Given the description of an element on the screen output the (x, y) to click on. 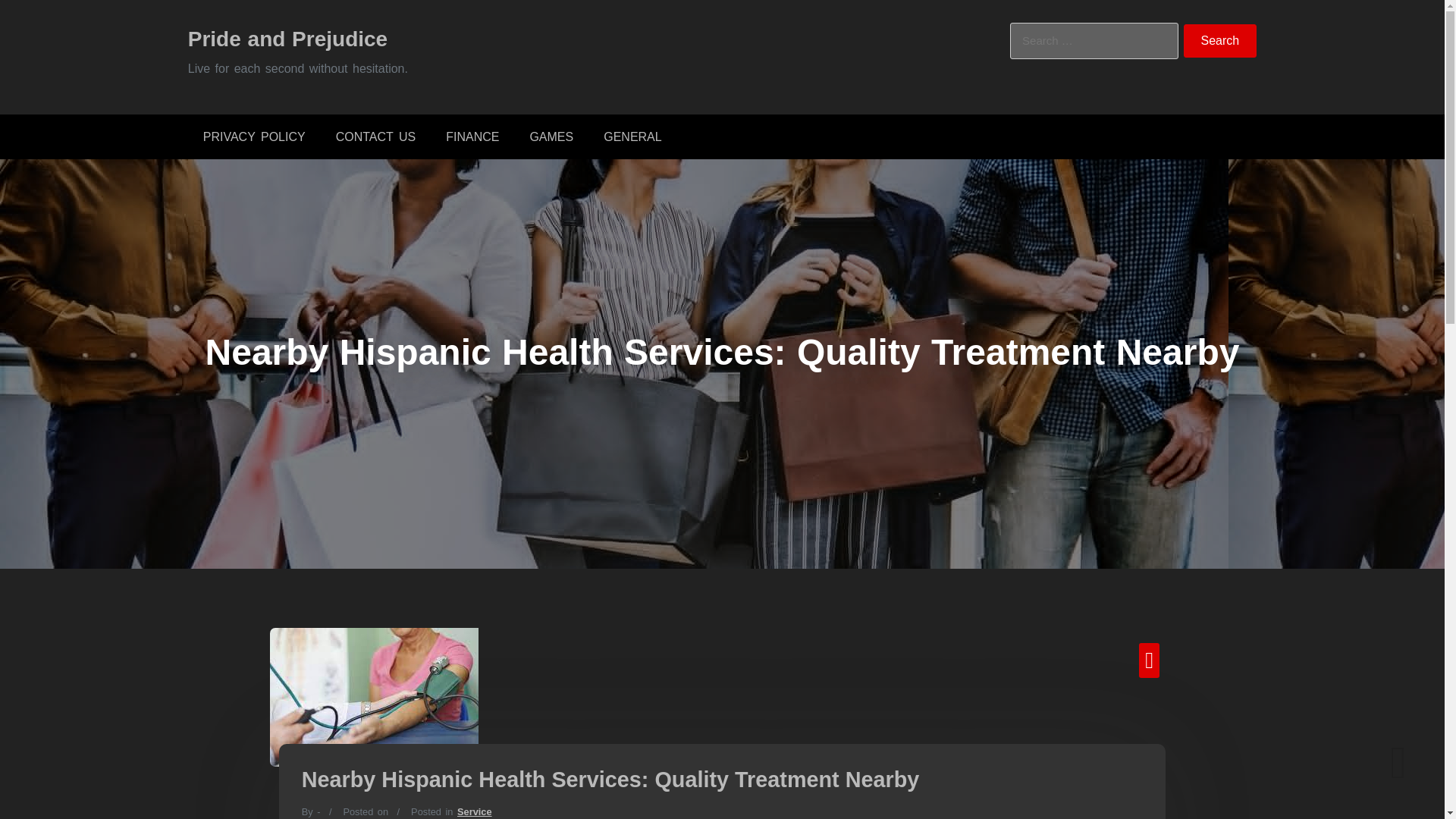
Search (1220, 40)
Search (1220, 40)
CONTACT US (375, 136)
FINANCE (471, 136)
GAMES (550, 136)
PRIVACY POLICY (253, 136)
Pride and Prejudice (287, 38)
Service (474, 811)
Search (1220, 40)
GENERAL (632, 136)
